Given the description of an element on the screen output the (x, y) to click on. 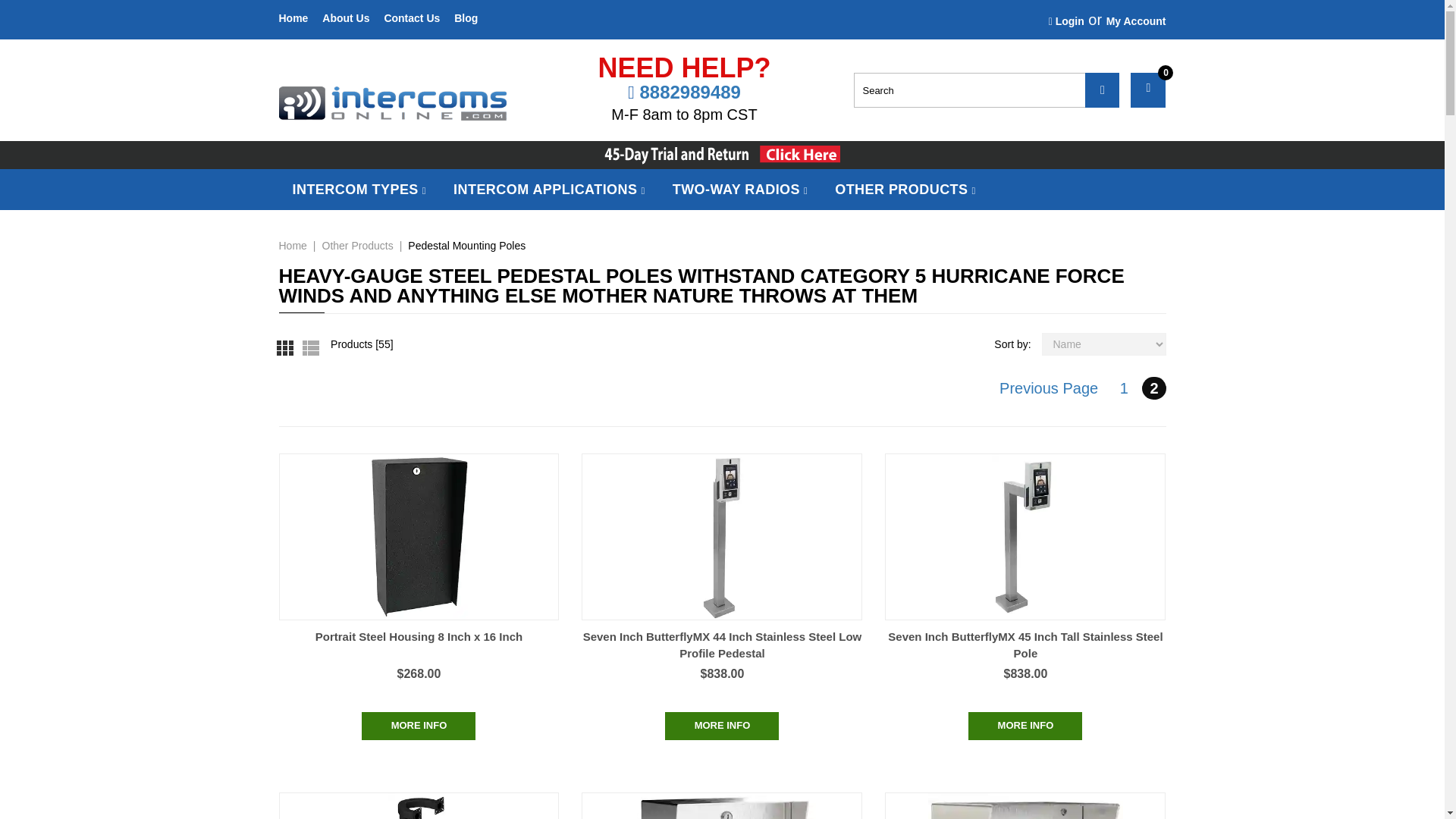
Login (1066, 21)
Grid View (289, 346)
My Account (1136, 21)
INTERCOM APPLICATIONS (549, 188)
0 (1148, 89)
About Us (345, 18)
Contact Us (411, 18)
List View (308, 346)
Blog (465, 18)
Home (293, 18)
INTERCOM TYPES (360, 188)
8882989489 (689, 91)
